Given the description of an element on the screen output the (x, y) to click on. 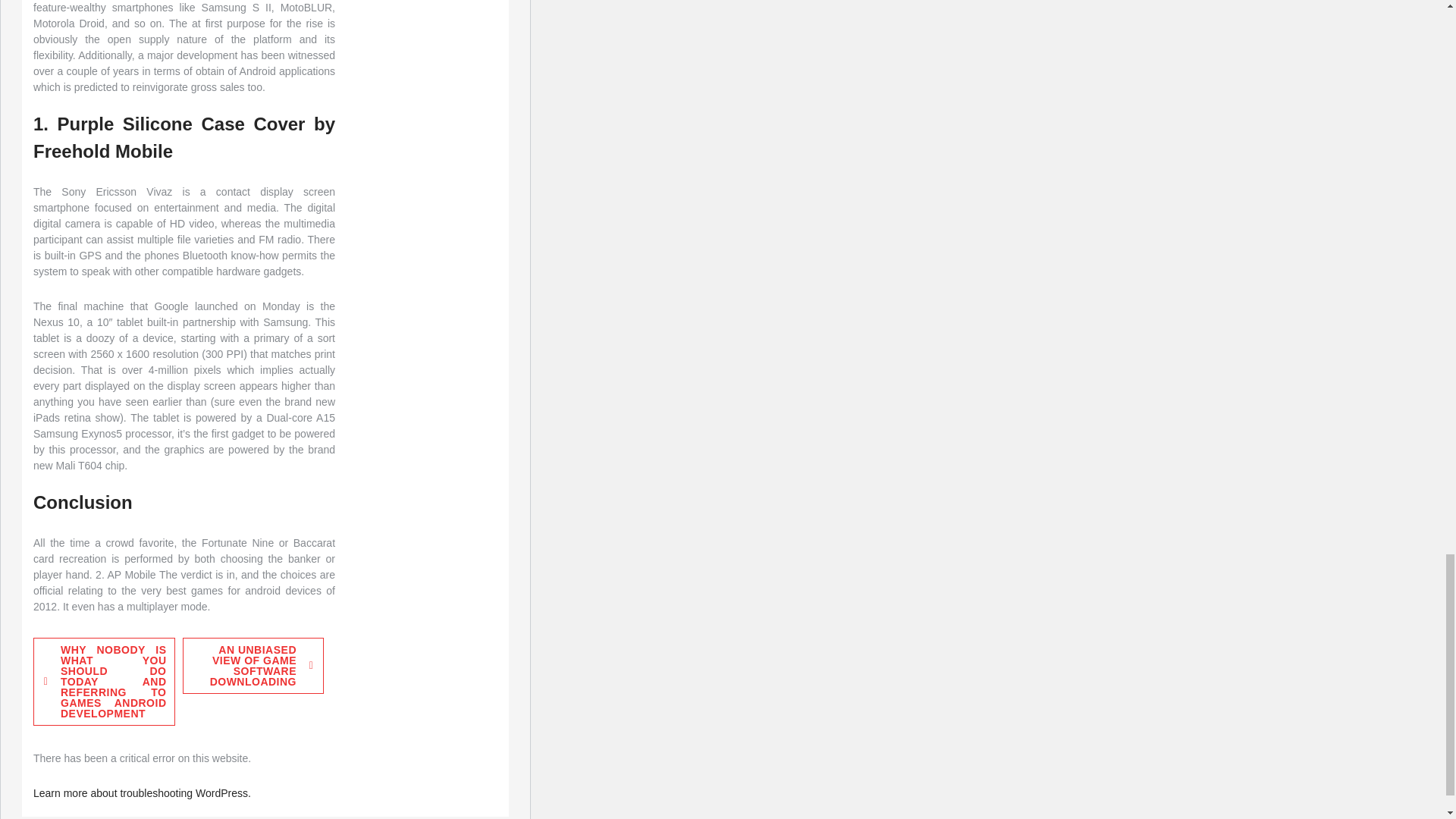
AN UNBIASED VIEW OF GAME SOFTWARE DOWNLOADING (253, 665)
Learn more about troubleshooting WordPress. (141, 793)
